Given the description of an element on the screen output the (x, y) to click on. 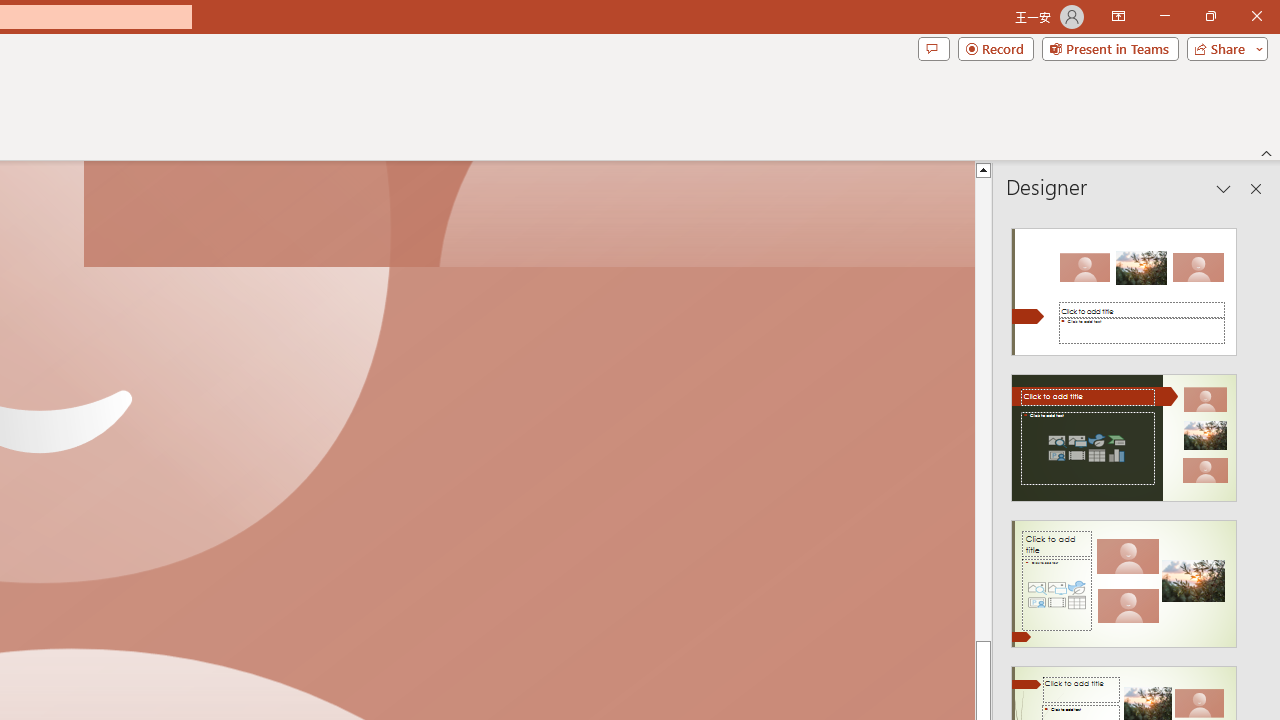
Camera 7, No camera detected. (529, 215)
Recommended Design: Design Idea (1124, 286)
